Given the description of an element on the screen output the (x, y) to click on. 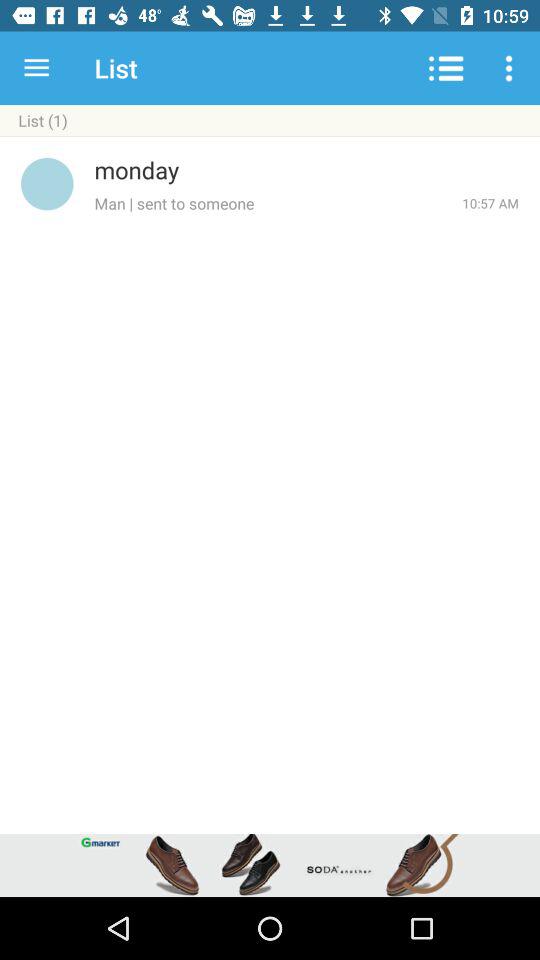
choose item to the left of list icon (36, 68)
